Given the description of an element on the screen output the (x, y) to click on. 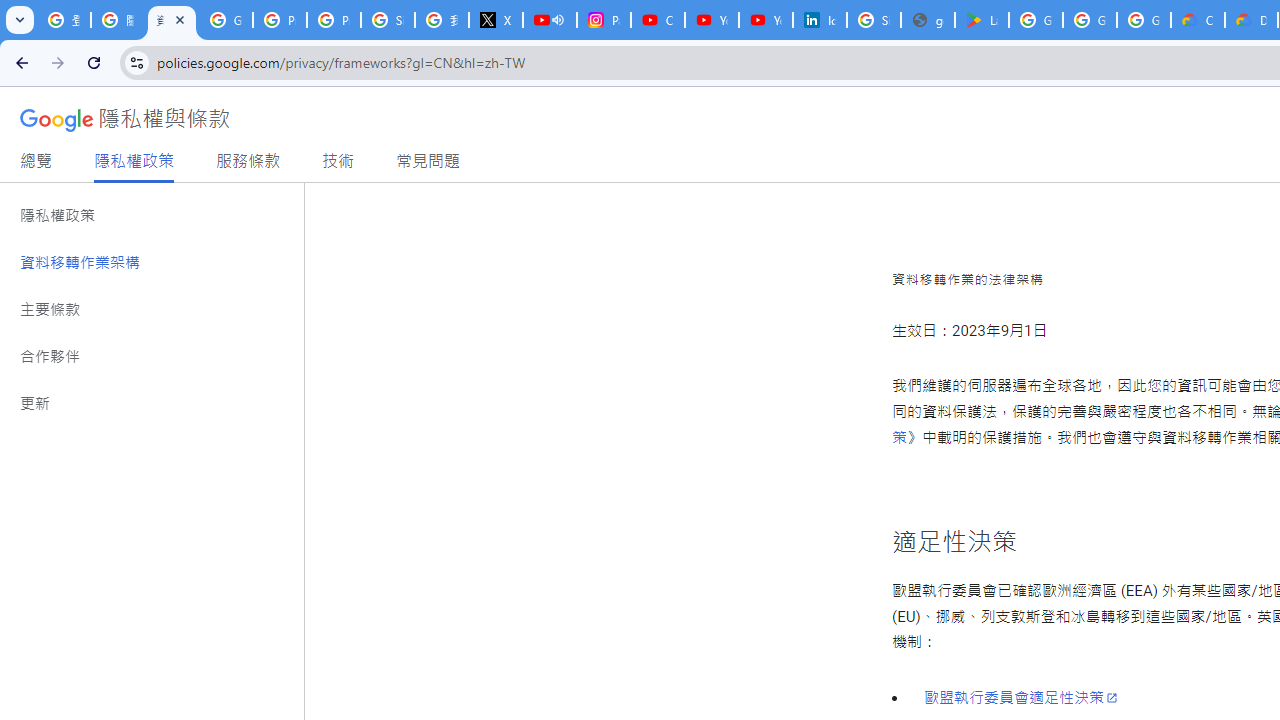
Last Shelter: Survival - Apps on Google Play (981, 20)
google_privacy_policy_en.pdf (927, 20)
YouTube Culture & Trends - YouTube Top 10, 2021 (765, 20)
Google Workspace - Specific Terms (1089, 20)
